Given the description of an element on the screen output the (x, y) to click on. 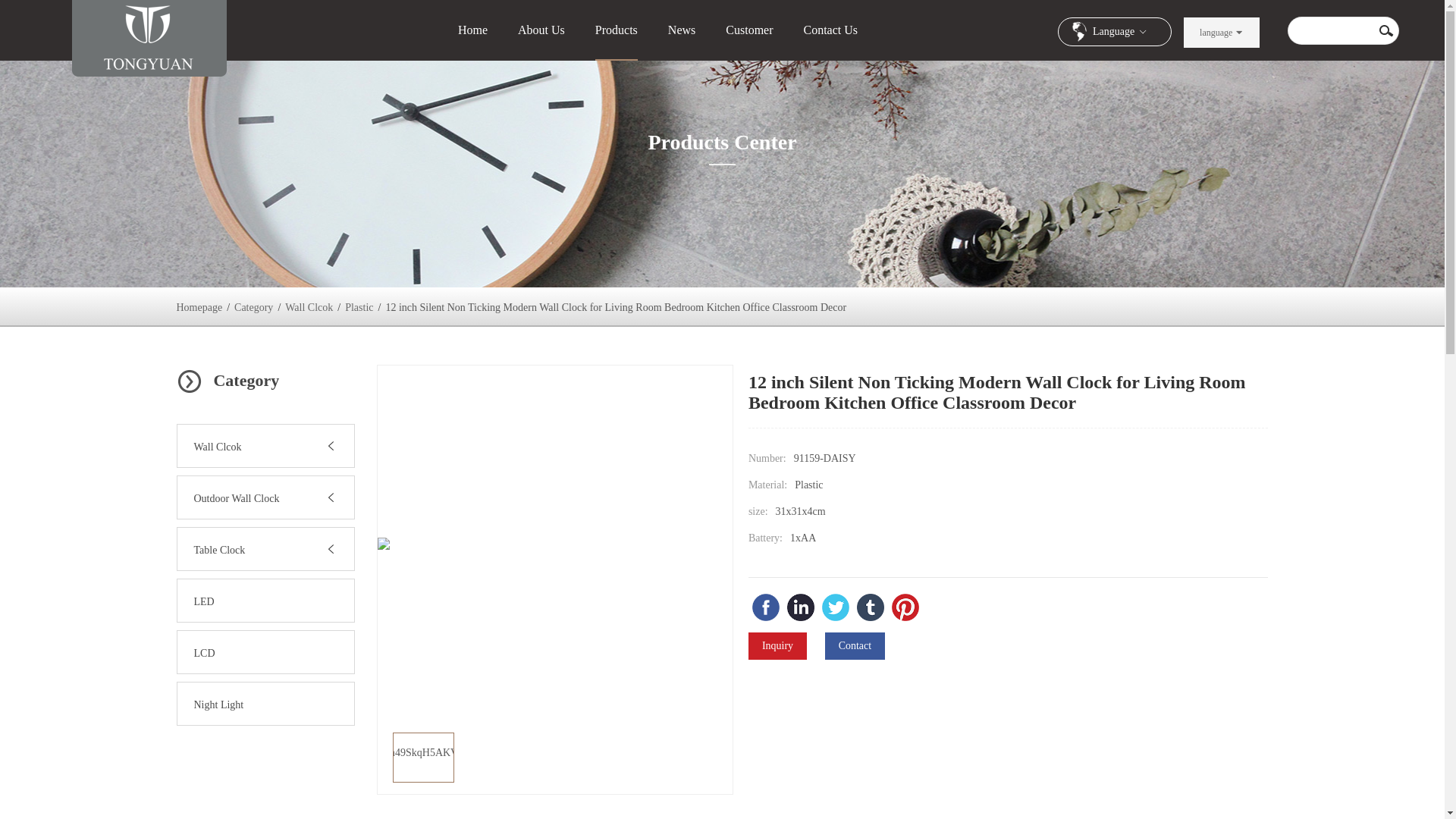
LCD (204, 653)
Night Light (218, 704)
Wall Clcok (217, 446)
Category (253, 307)
Tumblr (870, 606)
Table Clock (219, 550)
Linkedin (800, 606)
Outdoor Wall Clock (236, 498)
Homepage (199, 307)
vB3Z2m49SkqH5AKV6cRlSg (422, 757)
LED (203, 601)
Twitter (835, 606)
Contact Us (831, 30)
Plastic (358, 307)
Facebook (765, 606)
